Given the description of an element on the screen output the (x, y) to click on. 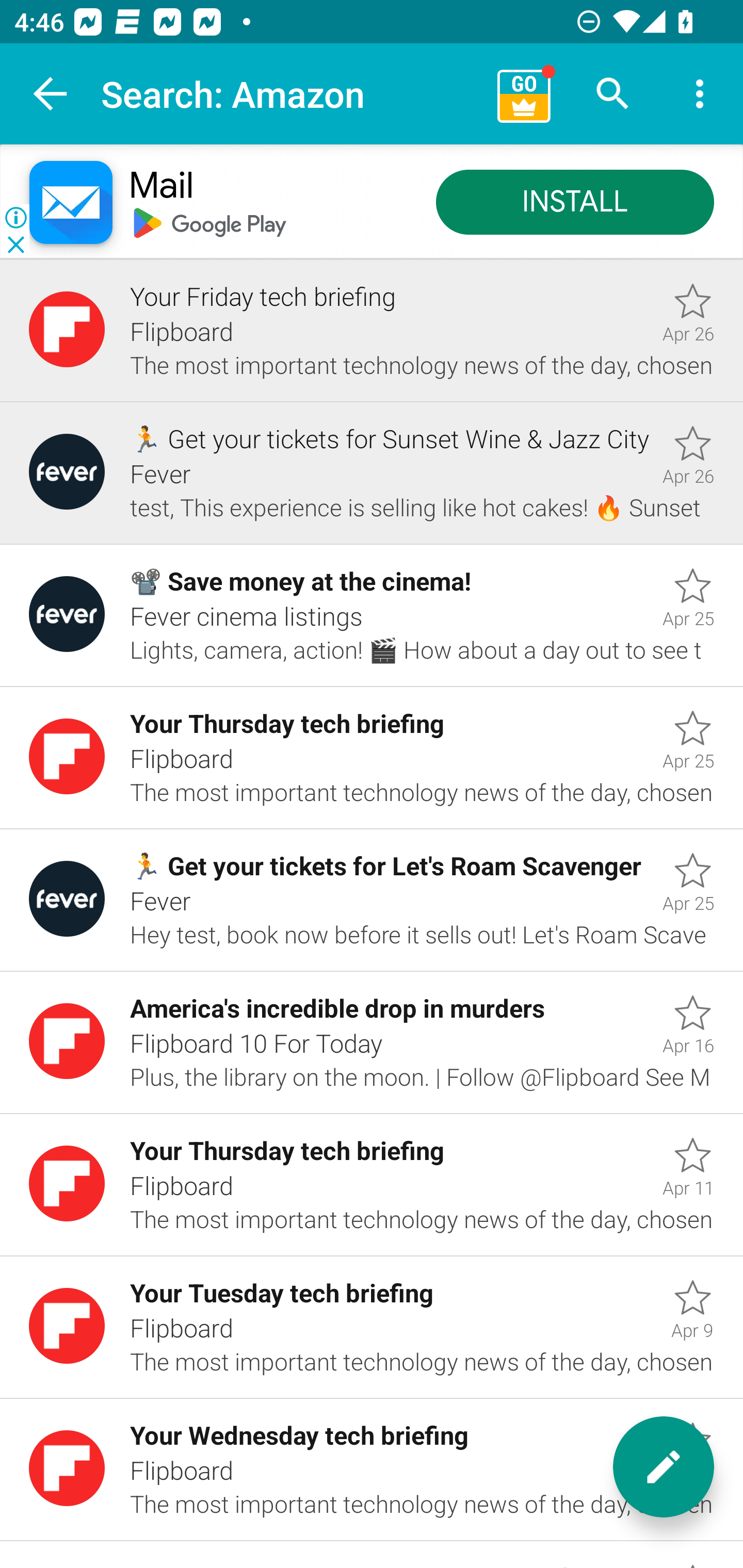
Navigate up (50, 93)
Search (612, 93)
More options (699, 93)
Mail (161, 186)
INSTALL (575, 202)
New message (663, 1466)
